Given the description of an element on the screen output the (x, y) to click on. 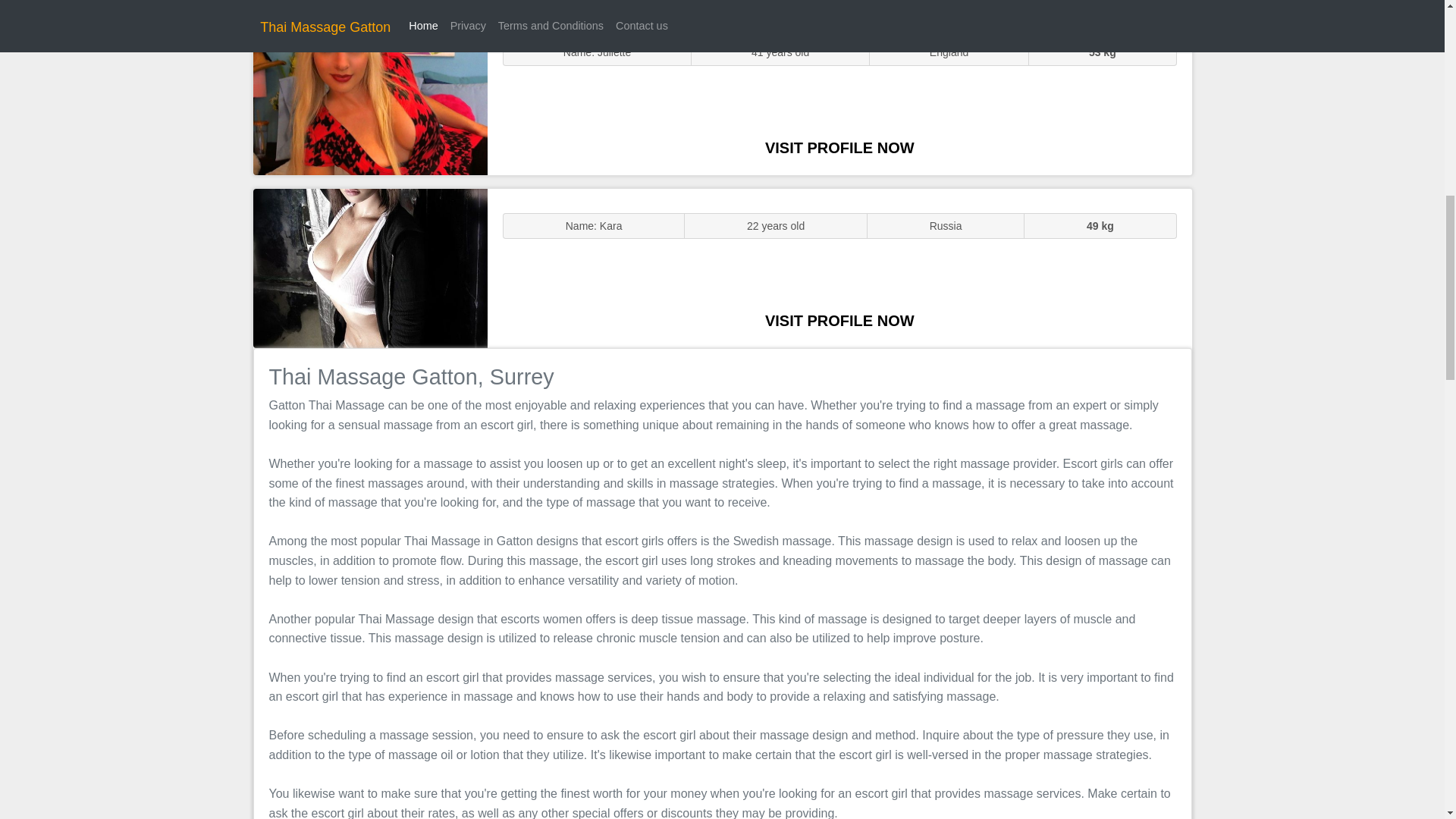
VISIT PROFILE NOW (839, 147)
Sluts (370, 94)
VISIT PROFILE NOW (839, 320)
Massage (370, 267)
